Given the description of an element on the screen output the (x, y) to click on. 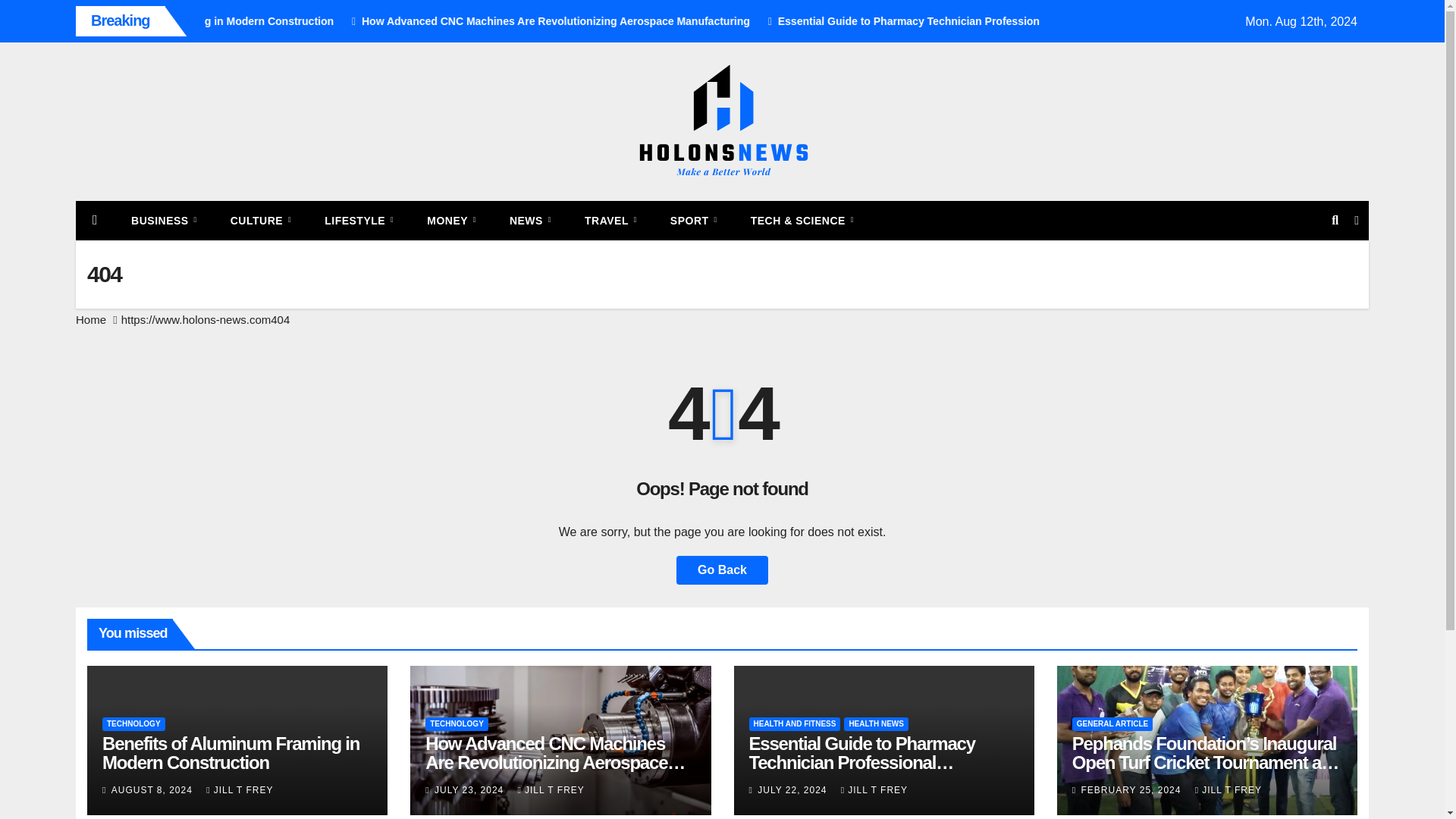
Benefits of Aluminum Framing in Modern Construction (352, 21)
BUSINESS (164, 220)
Lifestyle (358, 220)
Culture (260, 220)
CULTURE (260, 220)
Business (164, 220)
LIFESTYLE (358, 220)
